Given the description of an element on the screen output the (x, y) to click on. 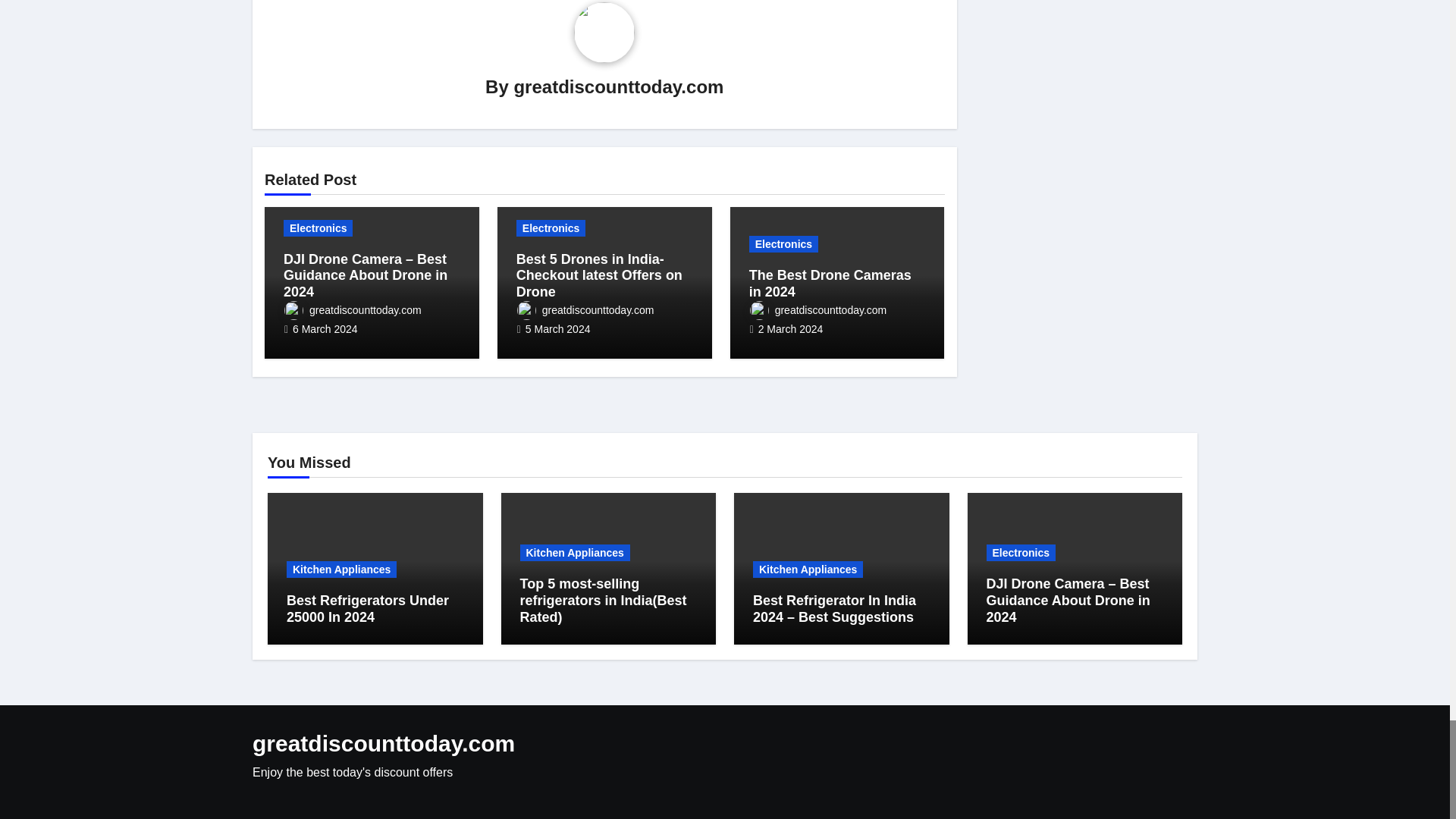
Best 5 Drones in India-Checkout latest Offers on Drone (599, 275)
greatdiscounttoday.com (584, 309)
Permalink to: Best Refrigerators Under 25000 In 2024 (367, 608)
Electronics (550, 228)
Electronics (317, 228)
greatdiscounttoday.com (618, 86)
6 March 2024 (325, 328)
Permalink to: The Best Drone Cameras in 2024 (830, 283)
greatdiscounttoday.com (352, 309)
